Given the description of an element on the screen output the (x, y) to click on. 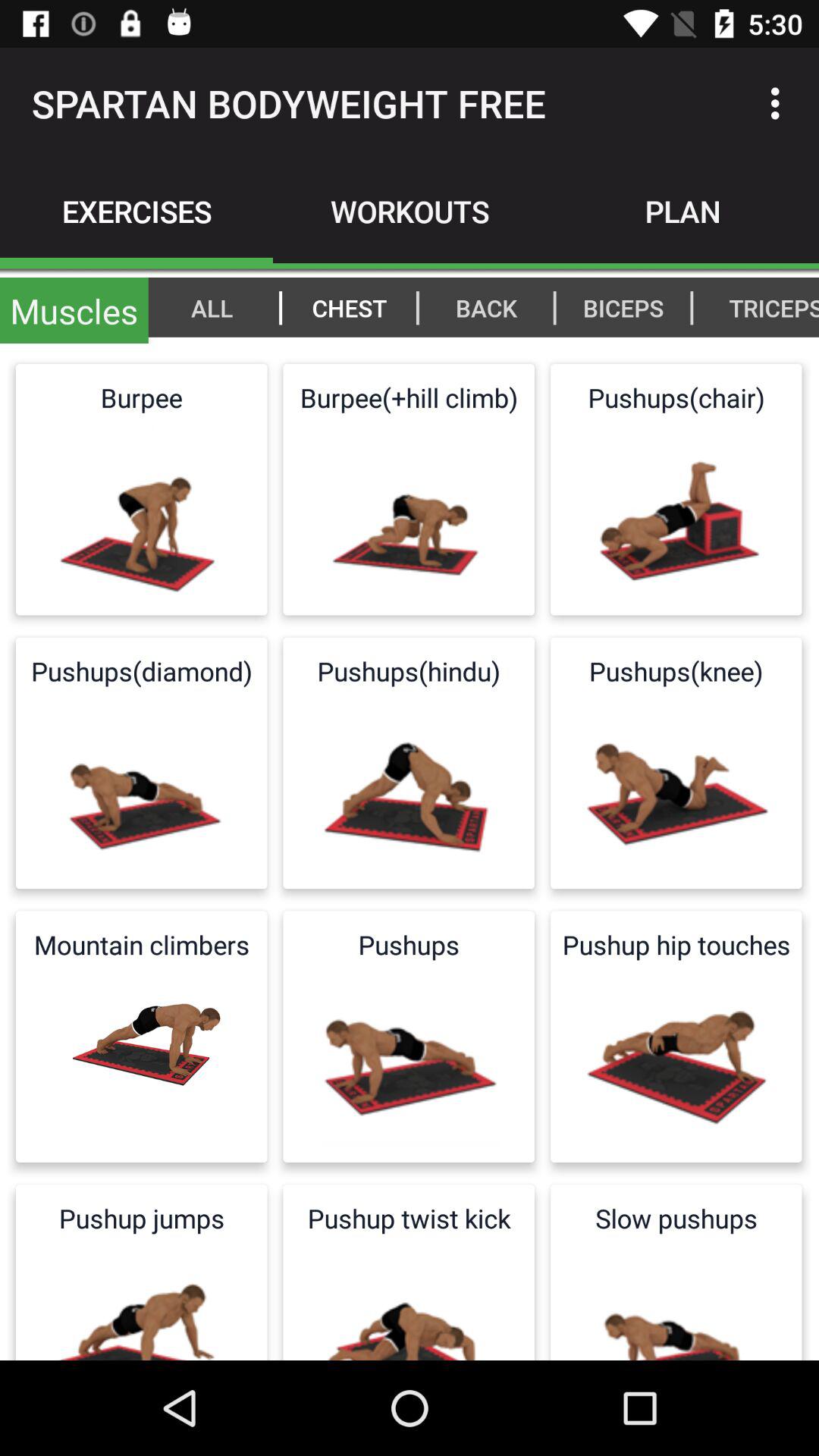
tap the back icon (485, 307)
